Given the description of an element on the screen output the (x, y) to click on. 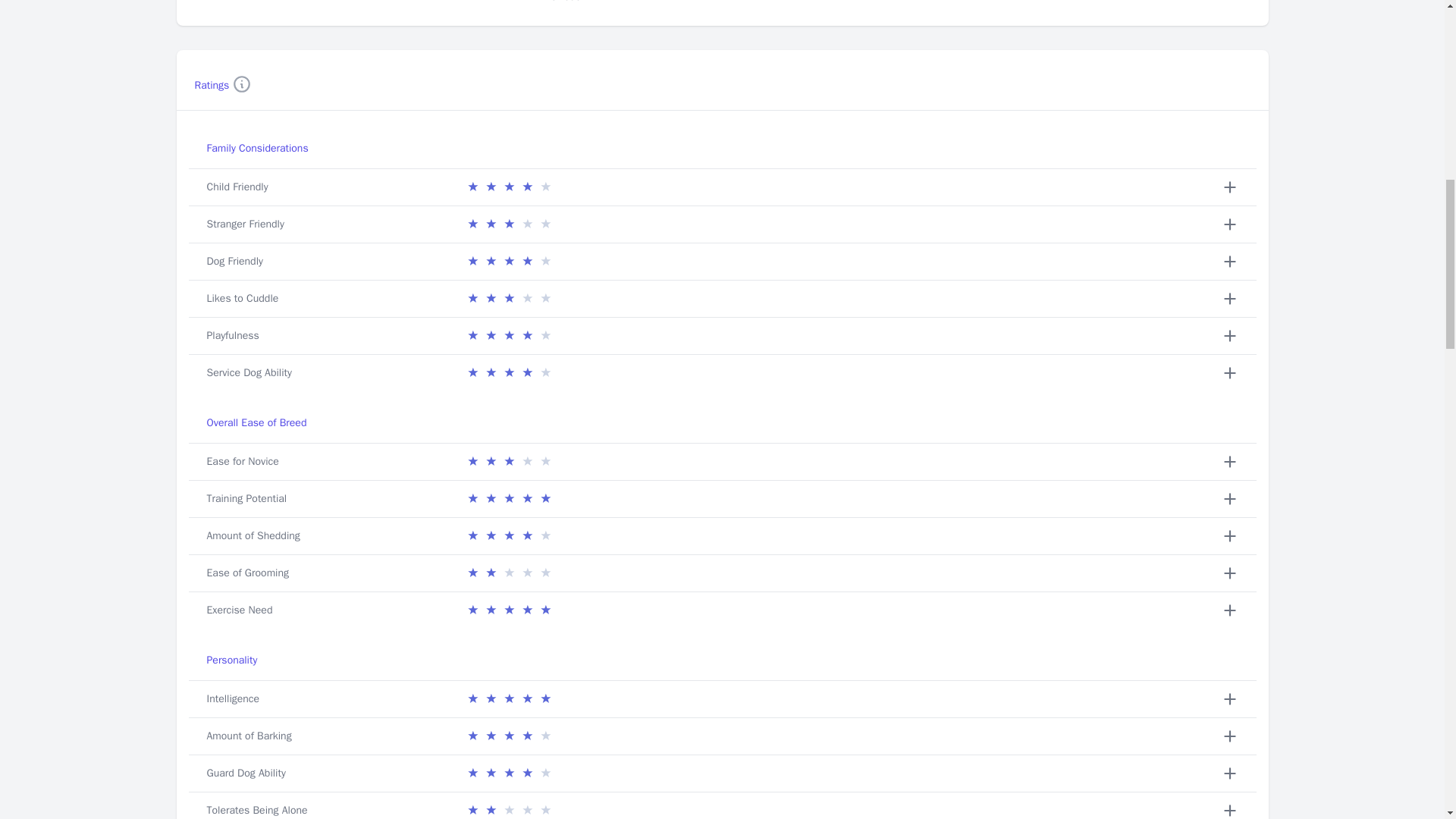
5 Stars (508, 498)
5 Stars (508, 699)
3 Stars (508, 461)
4 Stars (508, 773)
4 Stars (508, 372)
4 Stars (508, 736)
5 Stars (508, 610)
4 Stars (508, 335)
4 Stars (508, 187)
3 Stars (508, 224)
